Given the description of an element on the screen output the (x, y) to click on. 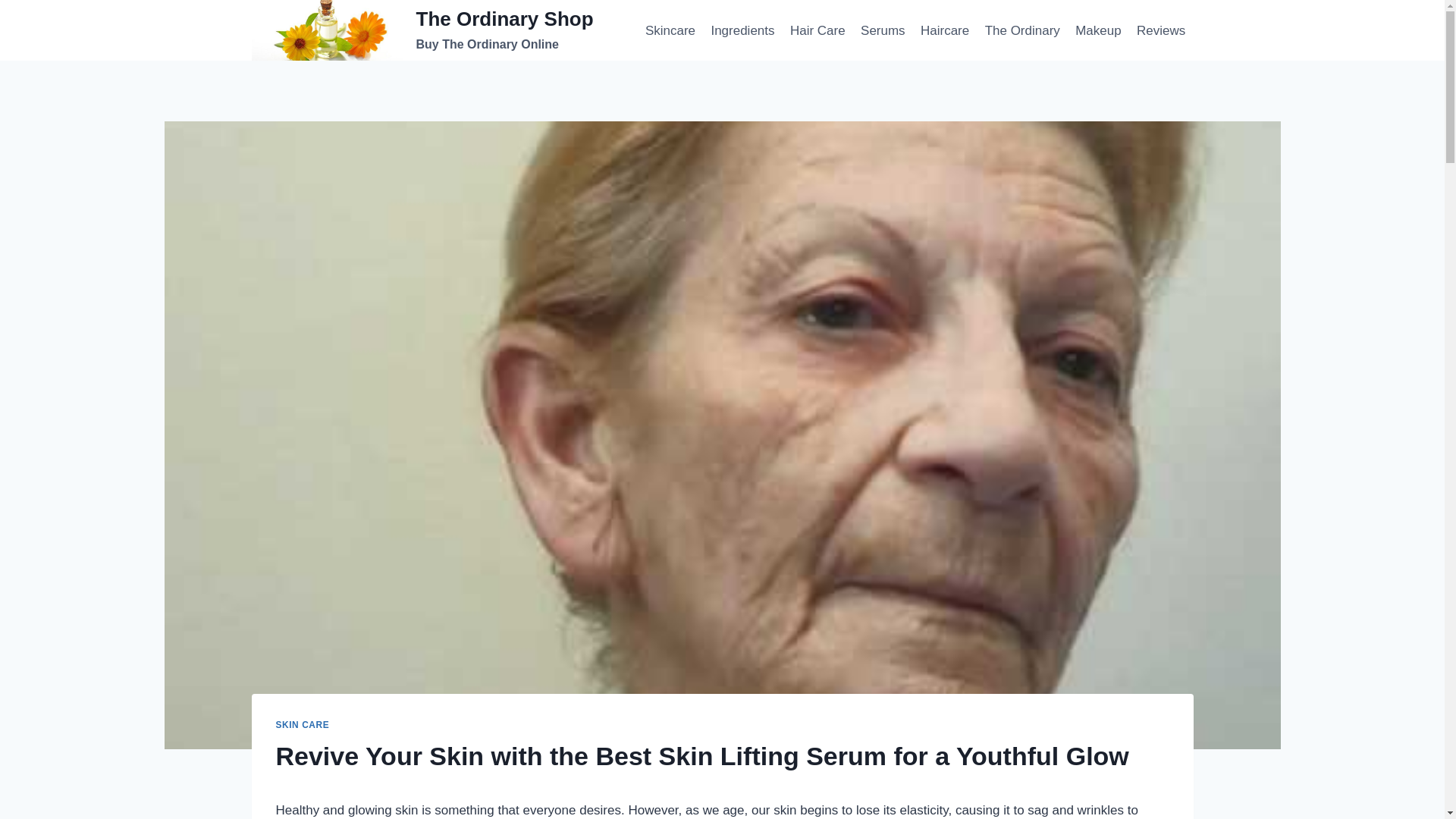
Makeup (1098, 29)
Reviews (1161, 29)
Serums (882, 29)
The Ordinary (422, 30)
Skincare (1021, 29)
Hair Care (670, 29)
Ingredients (818, 29)
SKIN CARE (743, 29)
Haircare (303, 724)
